Given the description of an element on the screen output the (x, y) to click on. 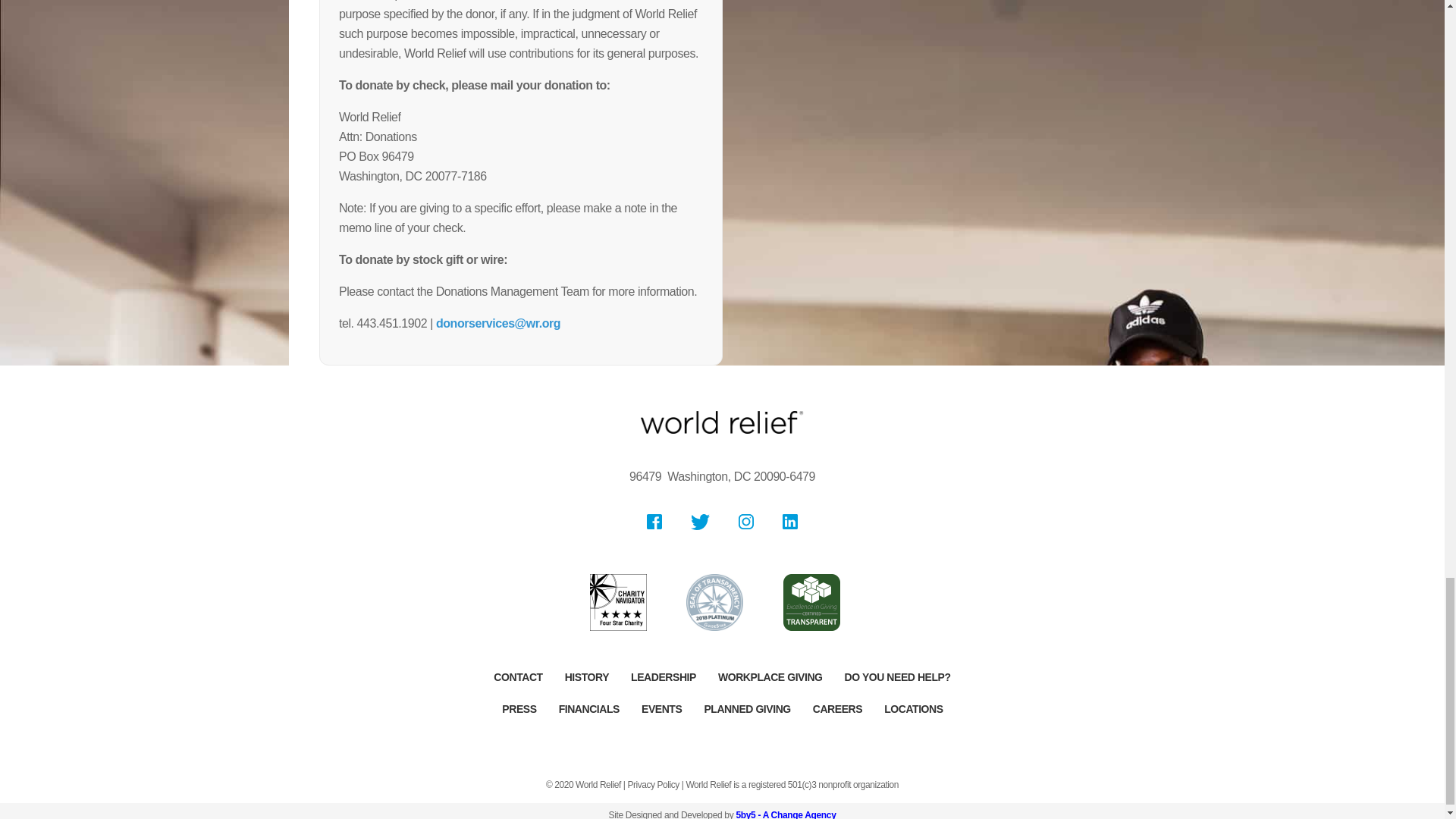
HISTORY (587, 676)
PLANNED GIVING (746, 708)
FINANCIALS (589, 708)
CONTACT (518, 676)
world-relief-logo (721, 422)
CAREERS (837, 708)
PRESS (519, 708)
LOCATIONS (913, 708)
WORKPLACE GIVING (769, 676)
EVENTS (661, 708)
DO YOU NEED HELP? (897, 676)
LEADERSHIP (663, 676)
